Given the description of an element on the screen output the (x, y) to click on. 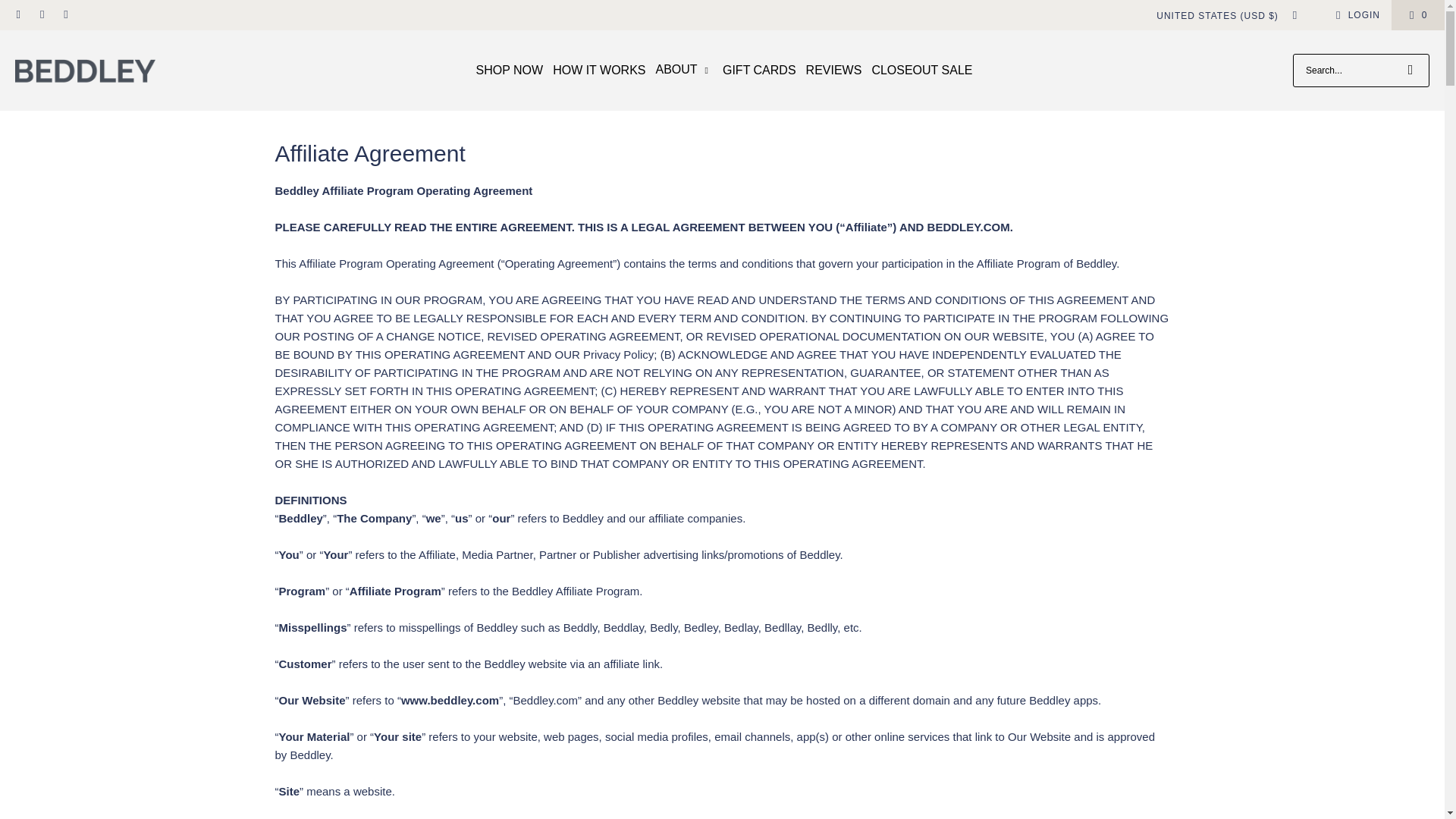
My Account  (1355, 14)
beddley.com on Instagram (41, 14)
beddley.com on Pinterest (65, 14)
beddley.com (84, 70)
beddley.com on Facebook (17, 14)
